Given the description of an element on the screen output the (x, y) to click on. 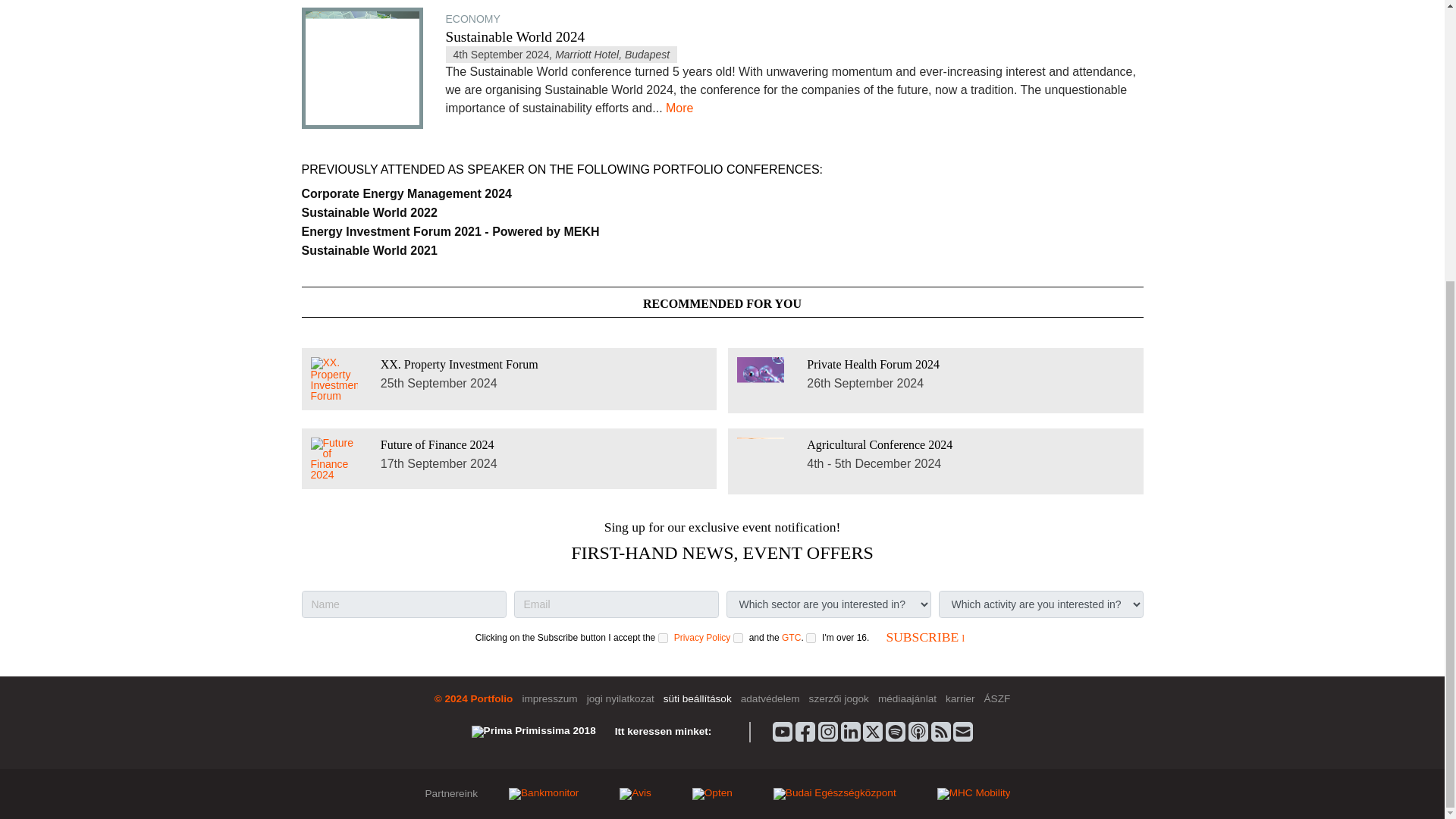
Rss (940, 730)
Spotify (895, 730)
1 (737, 637)
Facebook (804, 730)
Opten (712, 792)
Apple podcast (918, 730)
1 (663, 637)
MHC Mobility (973, 792)
Linkedin (850, 730)
1 (810, 637)
